Given the description of an element on the screen output the (x, y) to click on. 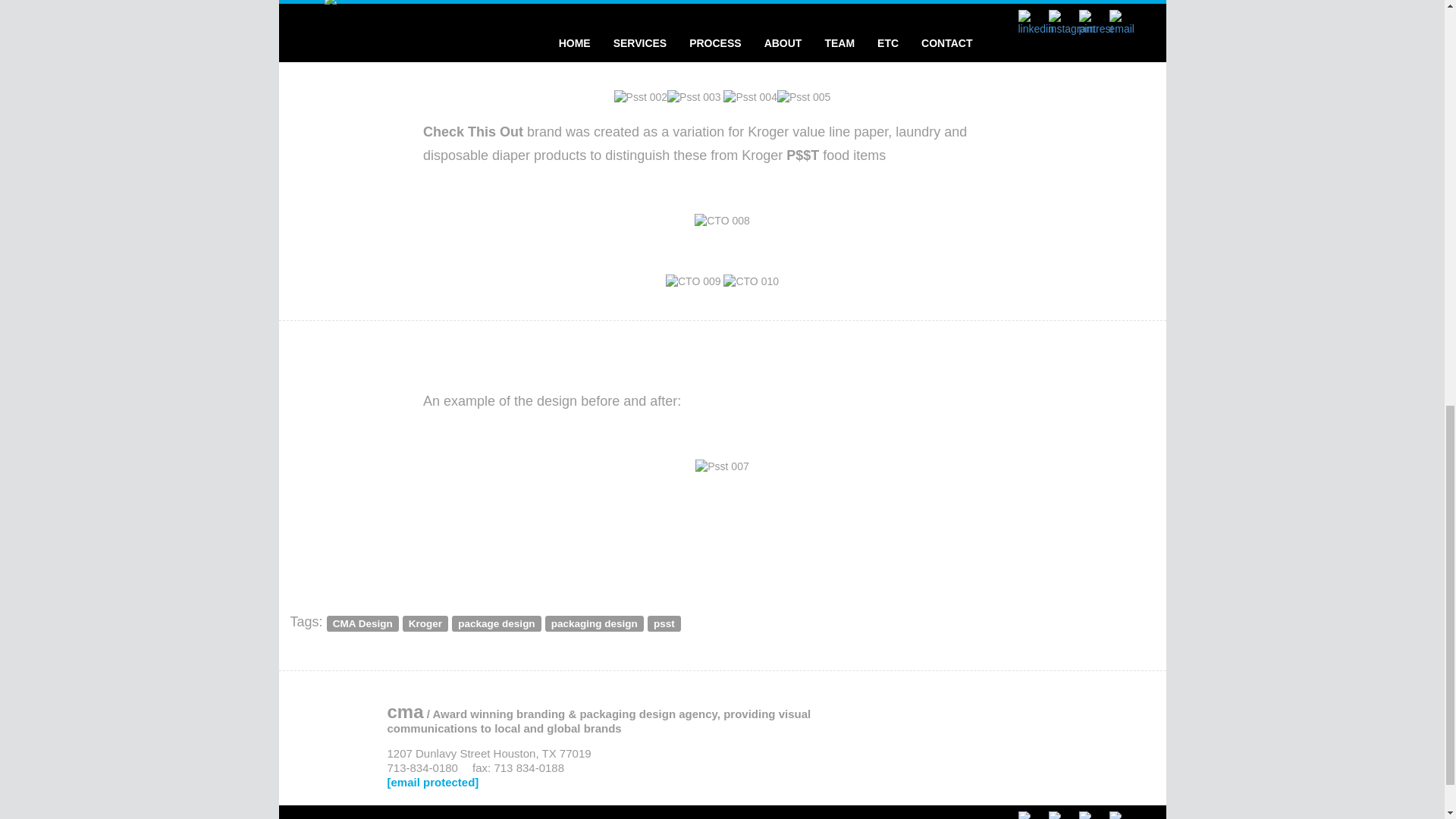
CMA Design (362, 623)
packaging design (593, 623)
package design (495, 623)
Kroger (425, 623)
psst (664, 623)
